Given the description of an element on the screen output the (x, y) to click on. 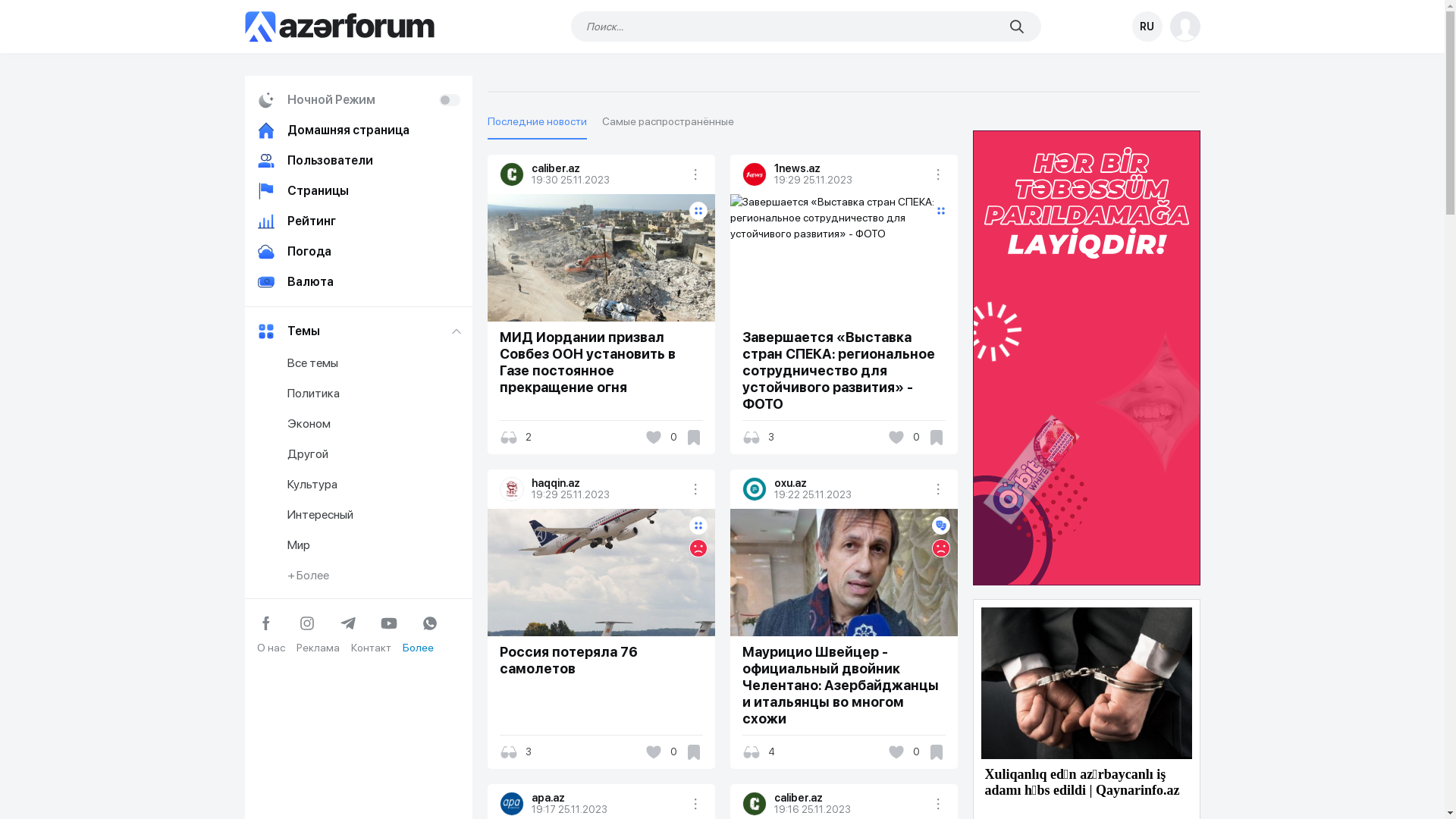
apa.az Element type: hover (511, 803)
caliber.az Element type: text (849, 797)
1news.az Element type: text (849, 168)
negative Element type: hover (940, 548)
oxu.az Element type: hover (754, 488)
caliber.az Element type: hover (511, 174)
negative Element type: hover (697, 548)
apa.az Element type: text (607, 797)
caliber.az Element type: text (607, 168)
1news.az Element type: hover (754, 174)
haqqin.az Element type: hover (511, 488)
haqqin.az Element type: text (607, 482)
oxu.az Element type: text (849, 482)
caliber.az Element type: hover (754, 803)
